Given the description of an element on the screen output the (x, y) to click on. 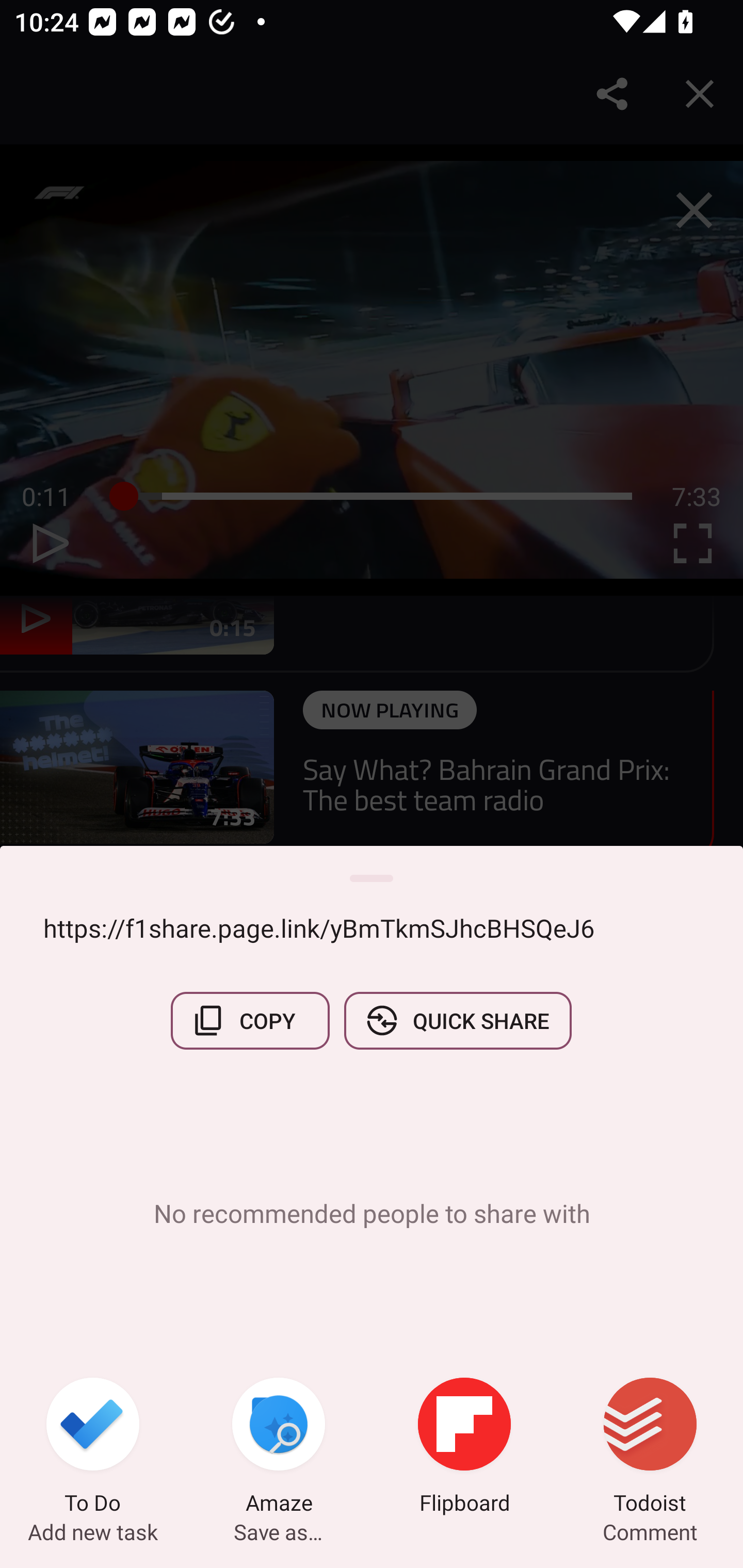
COPY (249, 1020)
QUICK SHARE (457, 1020)
To Do Add new task (92, 1448)
Amaze Save as… (278, 1448)
Flipboard (464, 1448)
Todoist Comment (650, 1448)
